Given the description of an element on the screen output the (x, y) to click on. 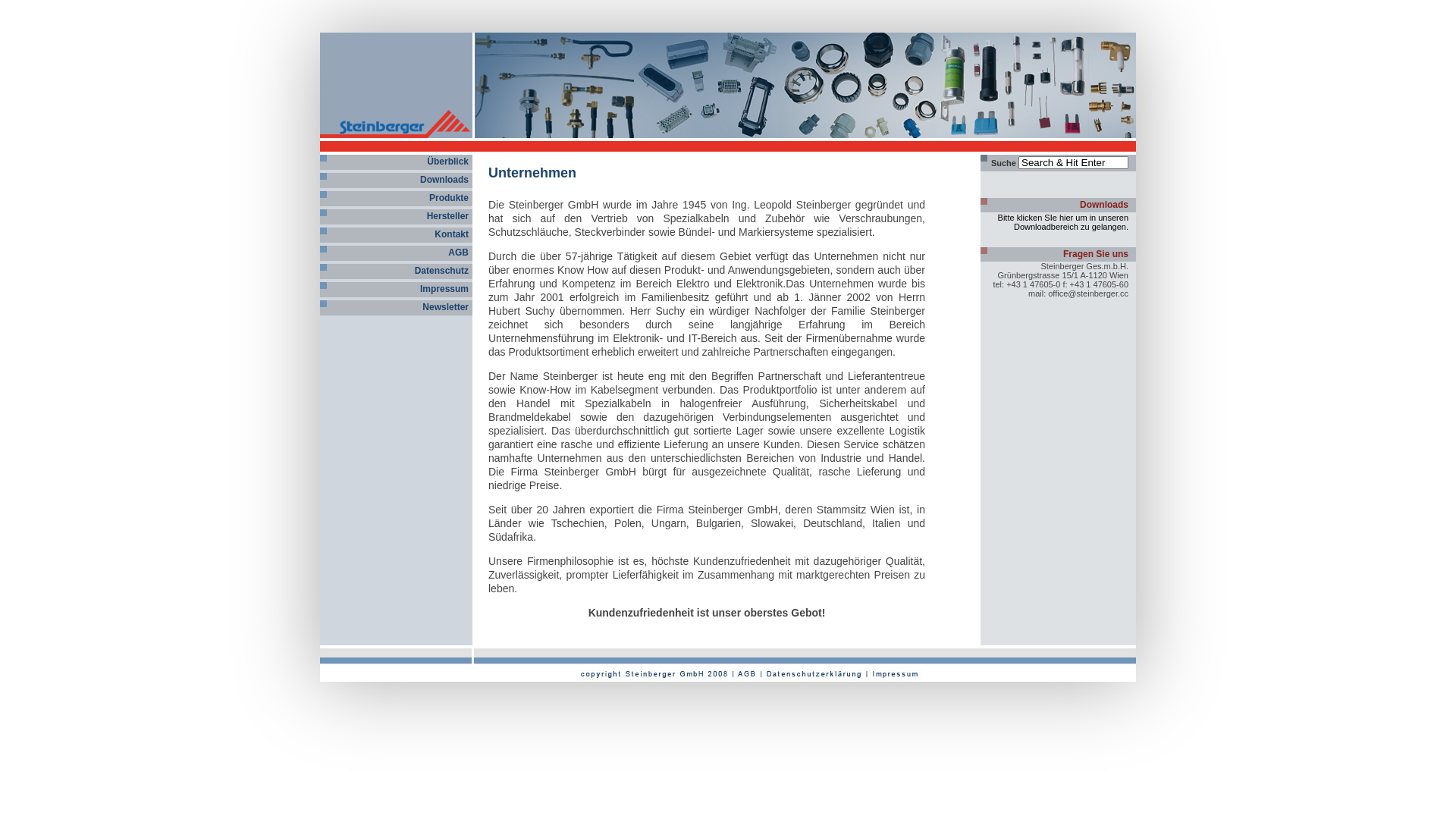
Hersteller Element type: text (447, 215)
Produkte Element type: text (448, 197)
Impressum Element type: text (444, 288)
Downloads Element type: text (444, 179)
Kontakt Element type: text (451, 234)
AGB Element type: text (458, 252)
Datenschutz Element type: text (441, 270)
Newsletter Element type: text (445, 306)
